Given the description of an element on the screen output the (x, y) to click on. 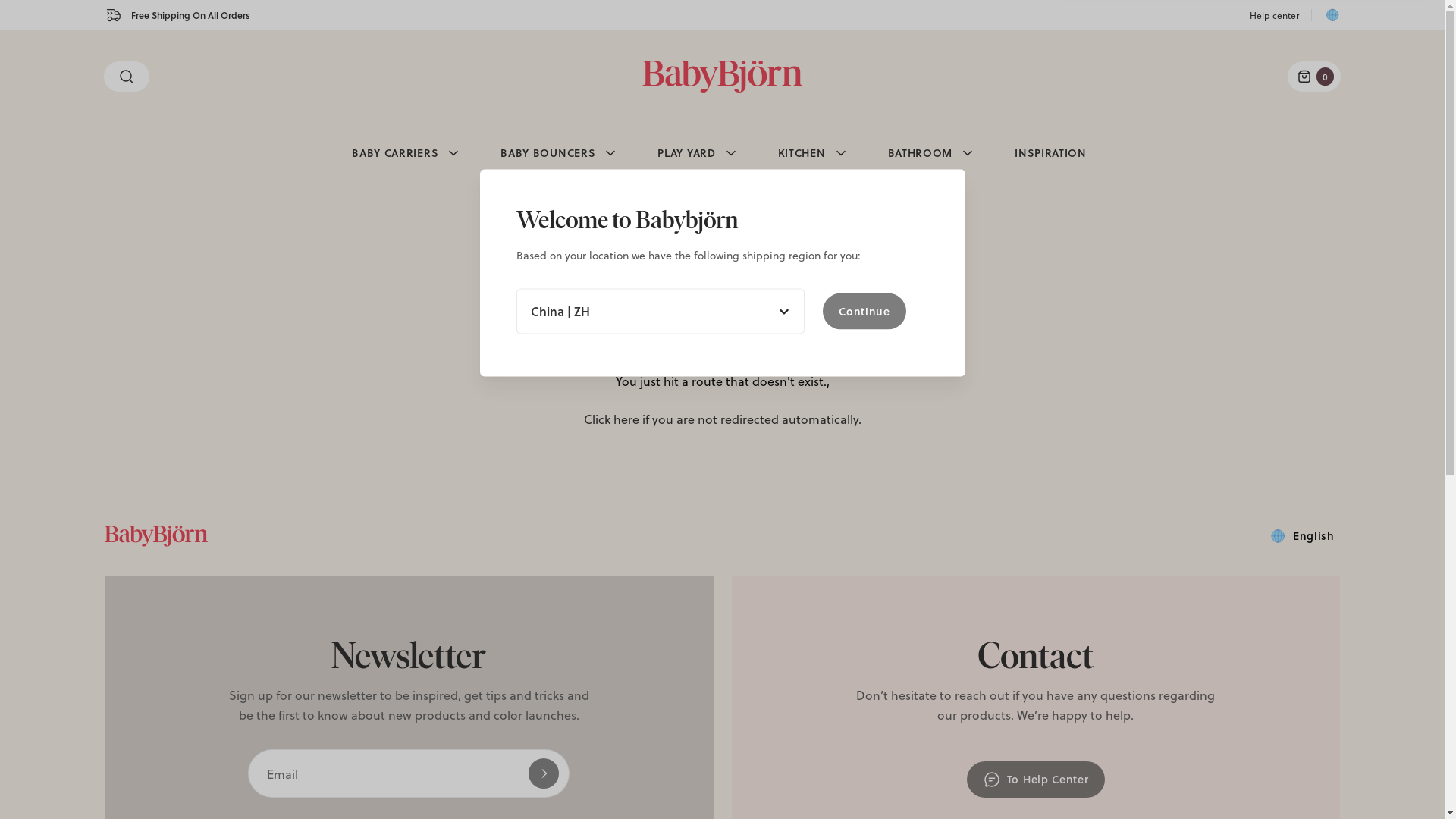
To Help Center Element type: text (1035, 779)
Help center Element type: text (1274, 14)
English Element type: text (1301, 535)
0 Element type: text (1313, 76)
BATHROOM Element type: text (932, 152)
INSPIRATION Element type: text (1050, 152)
BABY BOUNCERS Element type: text (559, 152)
Click here if you are not redirected automatically. Element type: text (721, 419)
Continue Element type: text (864, 310)
KITCHEN Element type: text (814, 152)
PLAY YARD Element type: text (698, 152)
BABY CARRIERS Element type: text (406, 152)
